Given the description of an element on the screen output the (x, y) to click on. 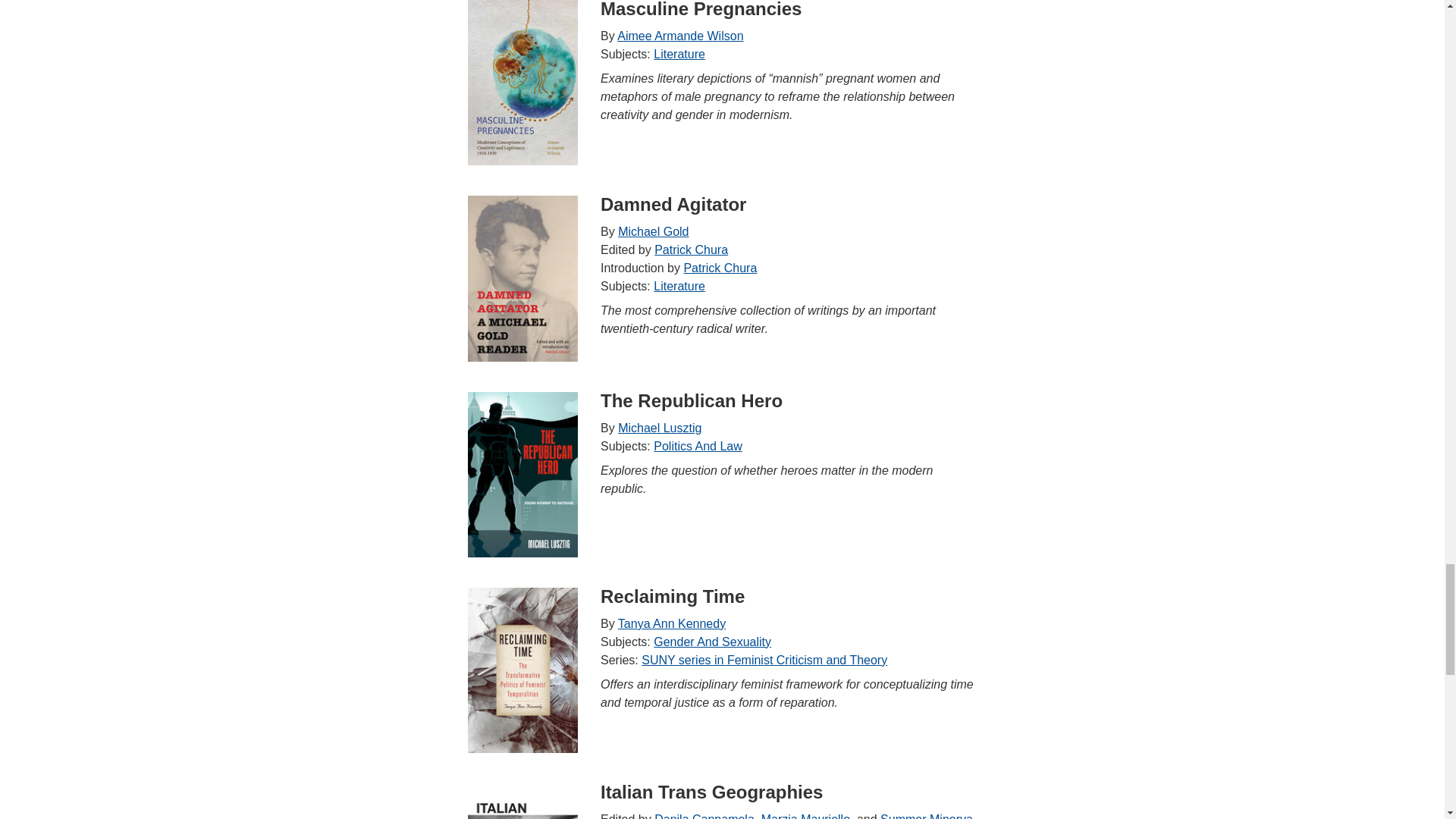
View Masculine Pregnancies (522, 82)
